Given the description of an element on the screen output the (x, y) to click on. 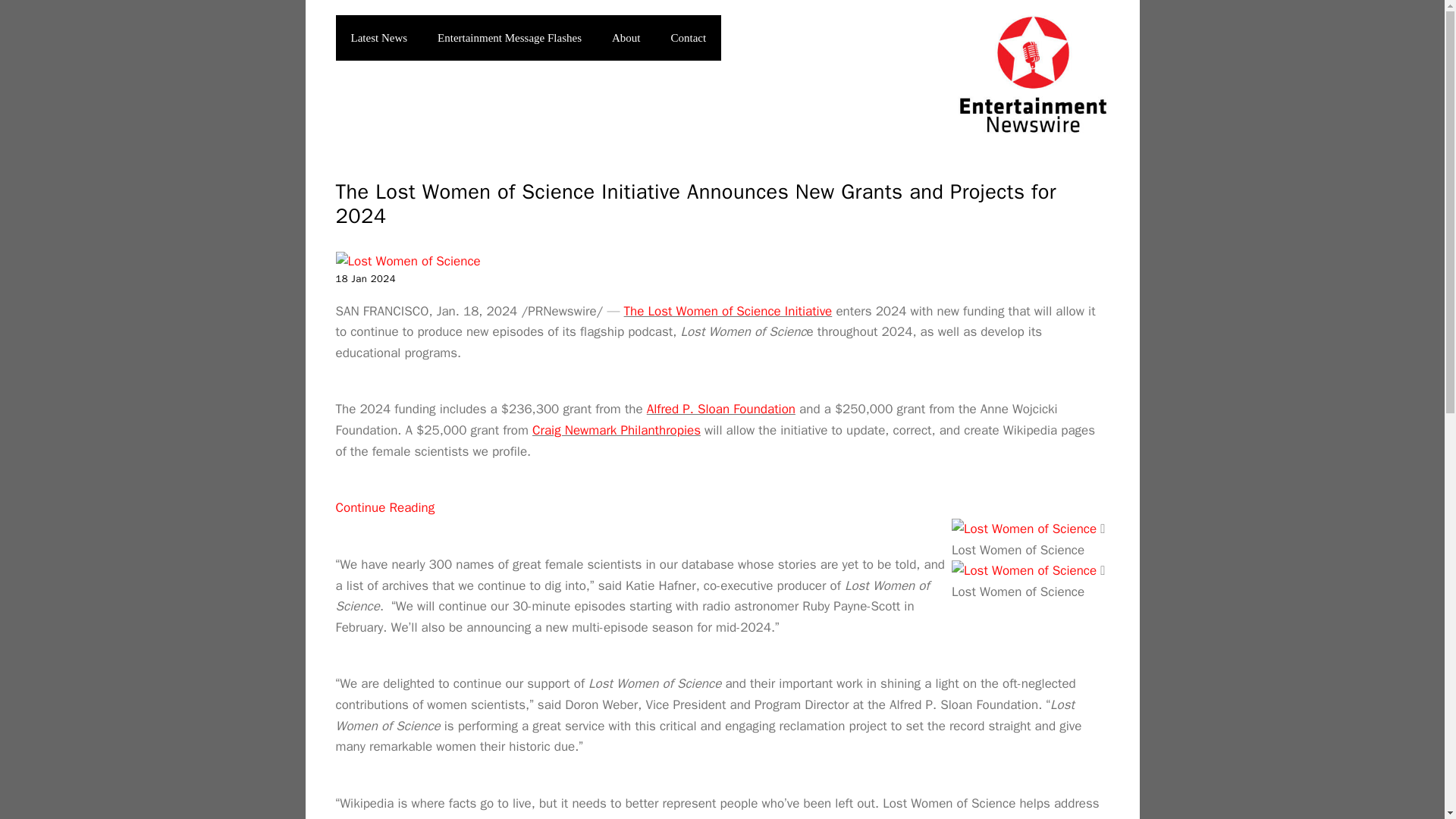
Lost Women of Science (1024, 528)
Craig Newmark Philanthropies (616, 430)
Contact (689, 37)
Entertainment Message Flashes (509, 37)
Latest News (378, 37)
The Lost Women of Science Initiative (728, 311)
About (626, 37)
Lost Women of Science (1024, 570)
Continue Reading (383, 507)
Lost Women of Science (407, 261)
Continue Reading (383, 507)
Alfred P. Sloan Foundation (720, 408)
